Given the description of an element on the screen output the (x, y) to click on. 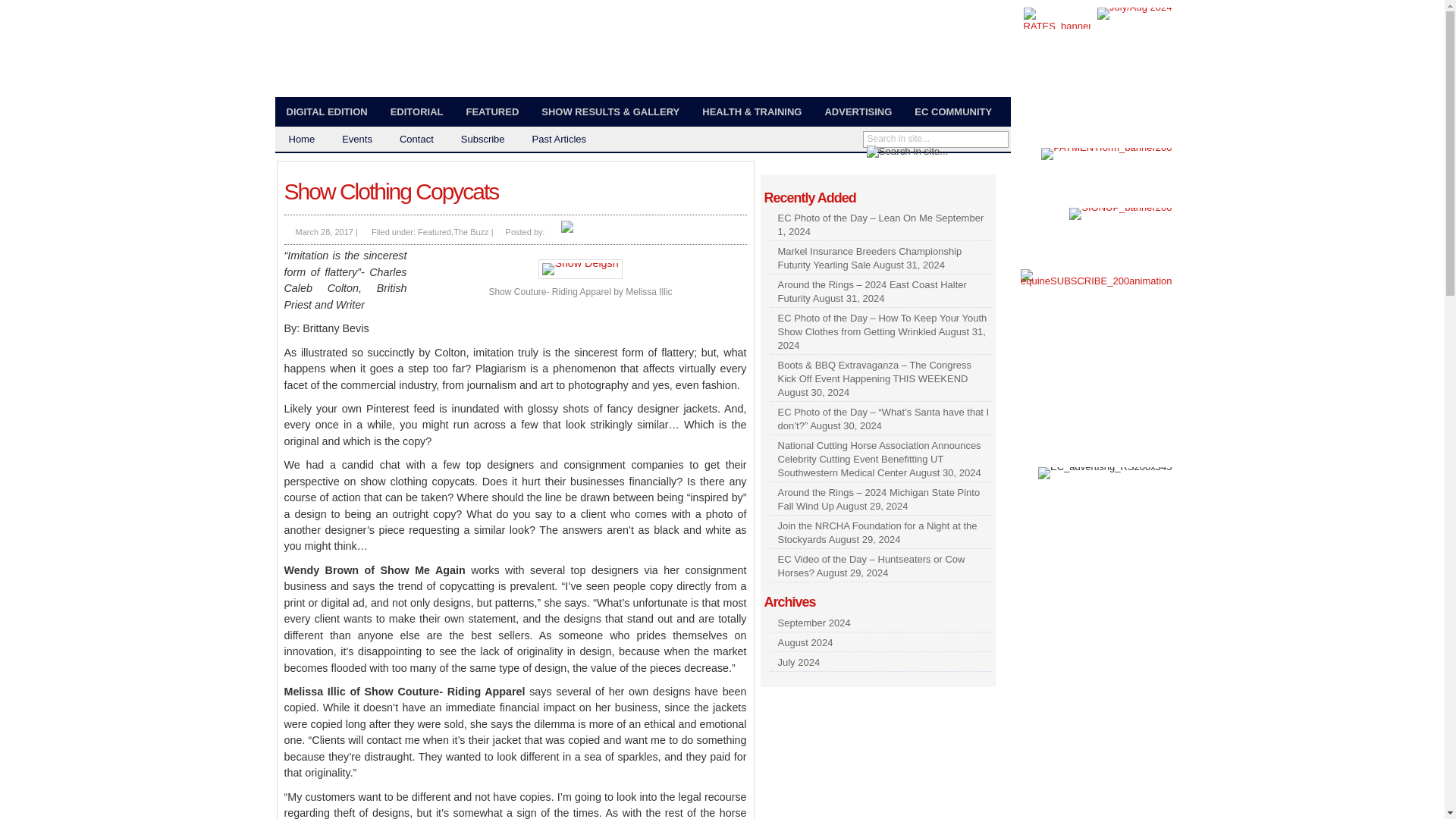
Join the NRCHA Foundation for a Night at the Stockyards (876, 532)
Search in site... (928, 138)
FEATURED (491, 111)
Subscribe (482, 138)
Contact (415, 138)
EDITORIAL (416, 111)
DIGITAL EDITION (326, 111)
ADVERTISING (857, 111)
Events (357, 138)
